Given the description of an element on the screen output the (x, y) to click on. 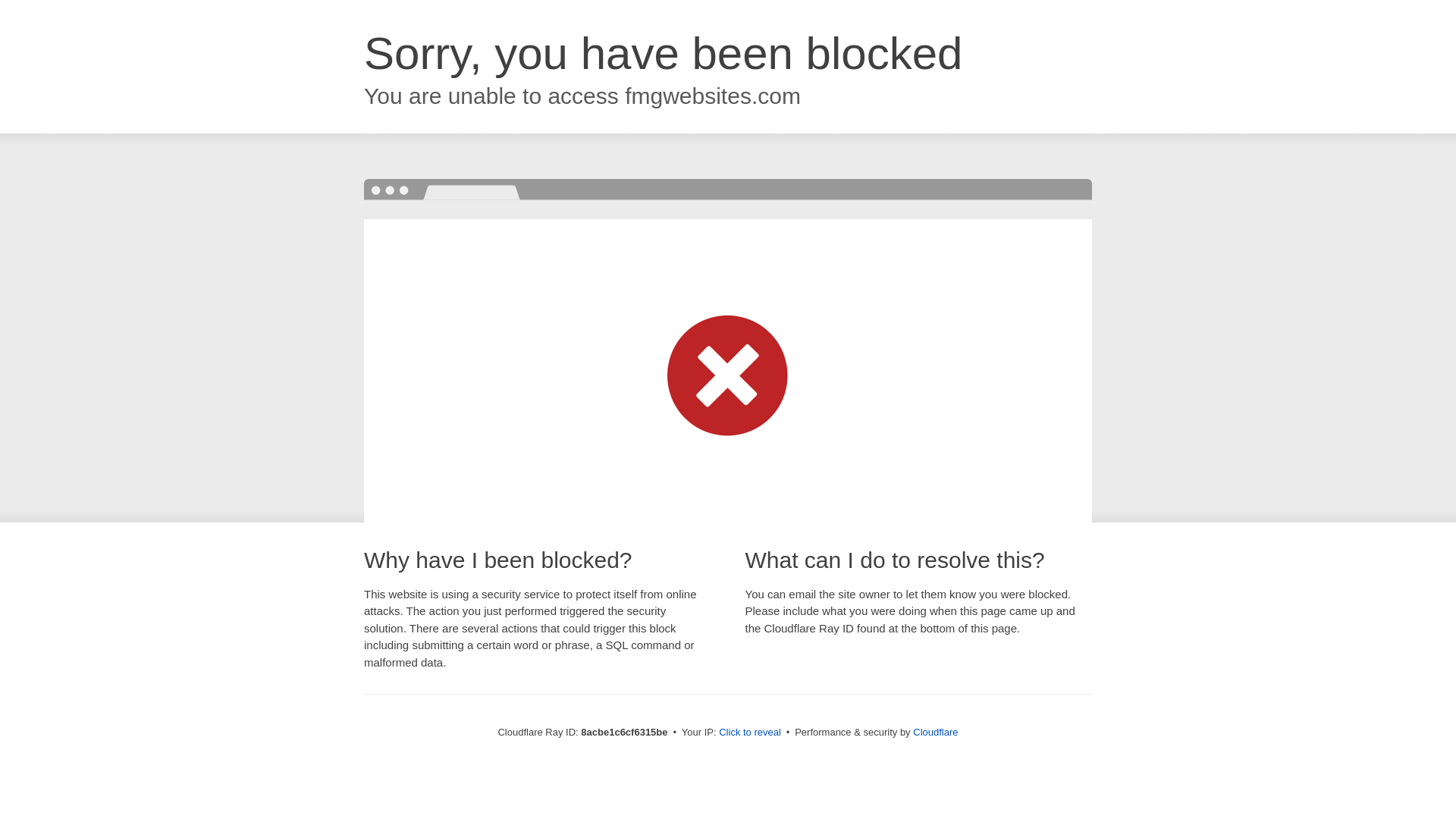
Cloudflare (935, 731)
Click to reveal (749, 732)
